Given the description of an element on the screen output the (x, y) to click on. 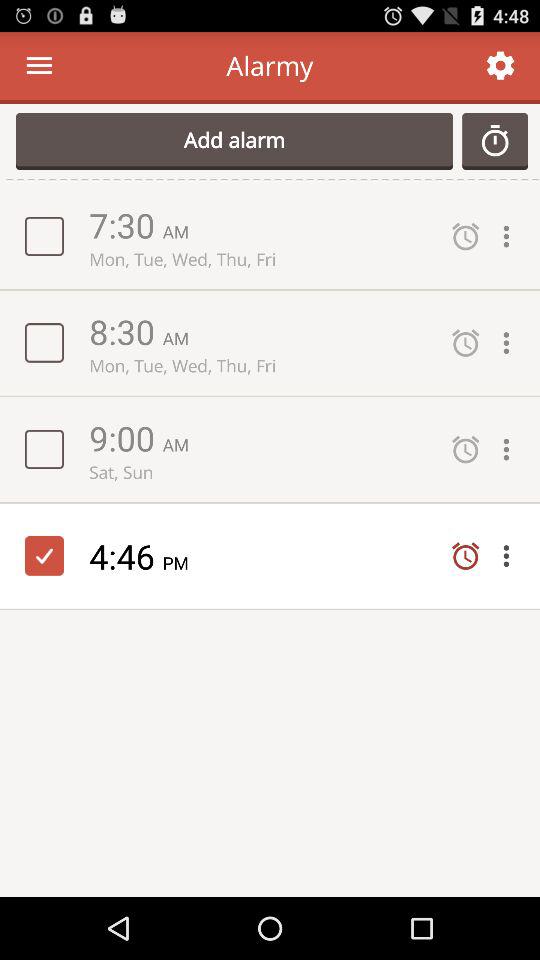
jump to 9:00 icon (125, 437)
